Given the description of an element on the screen output the (x, y) to click on. 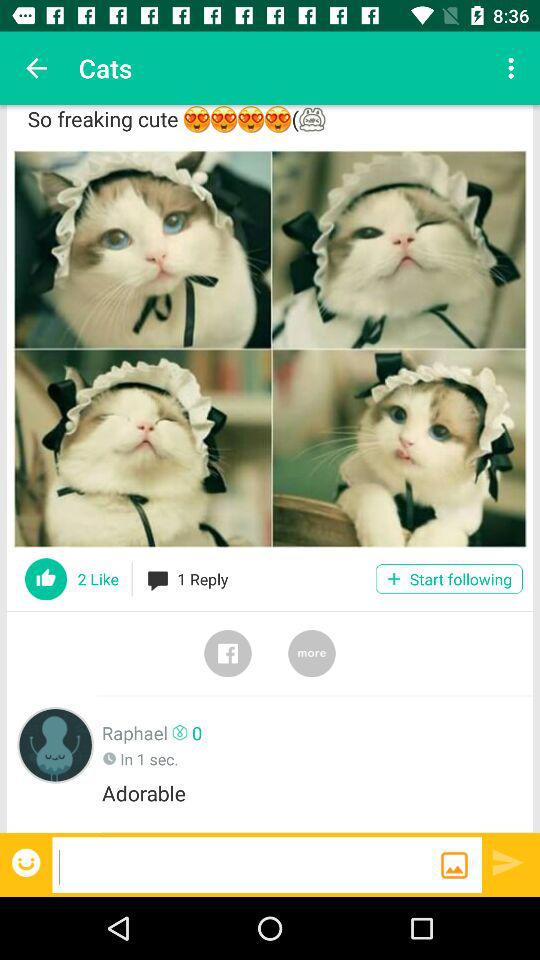
like (46, 579)
